Given the description of an element on the screen output the (x, y) to click on. 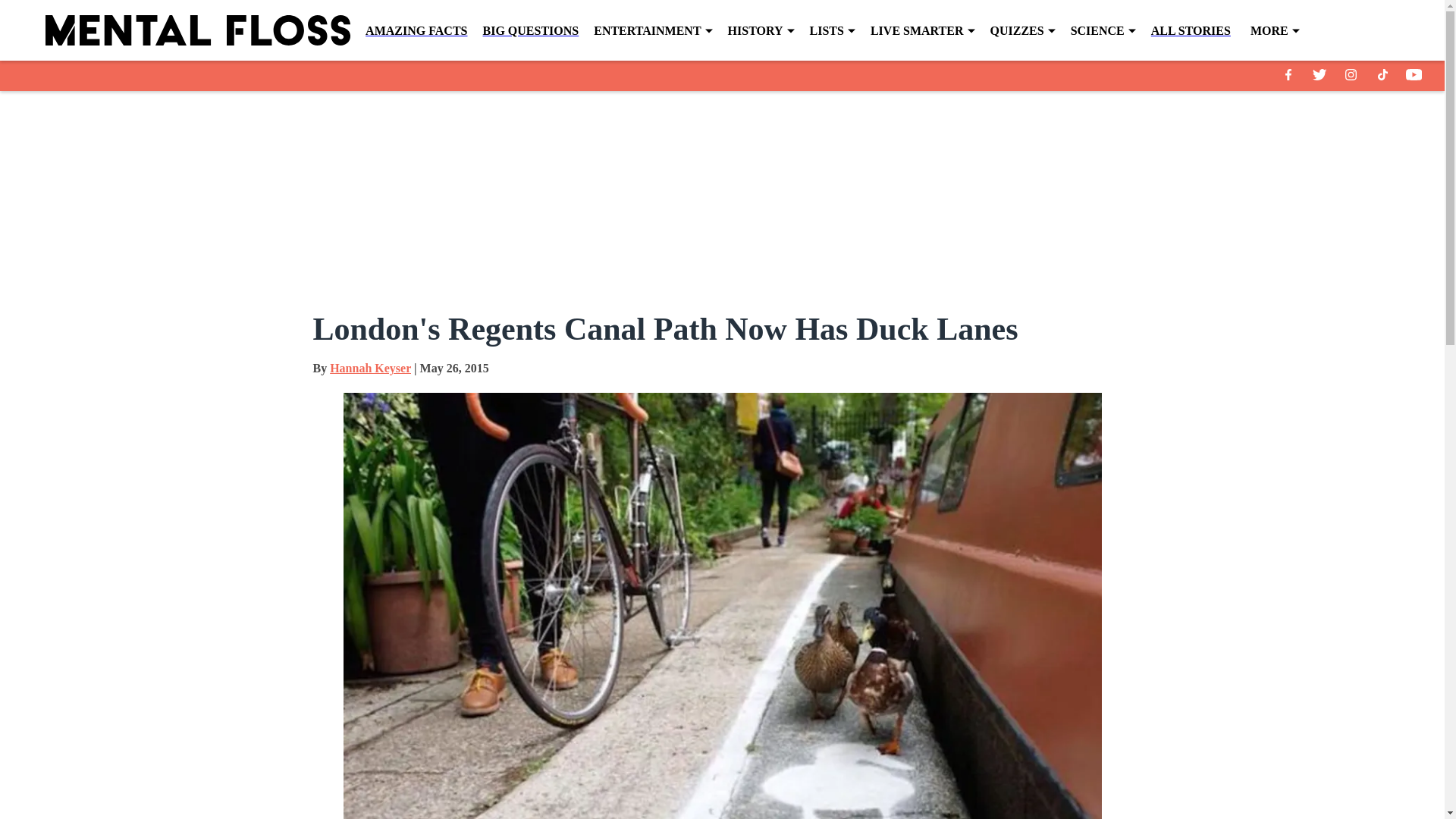
BIG QUESTIONS (529, 31)
AMAZING FACTS (416, 31)
ALL STORIES (1190, 31)
MORE (1275, 30)
